Given the description of an element on the screen output the (x, y) to click on. 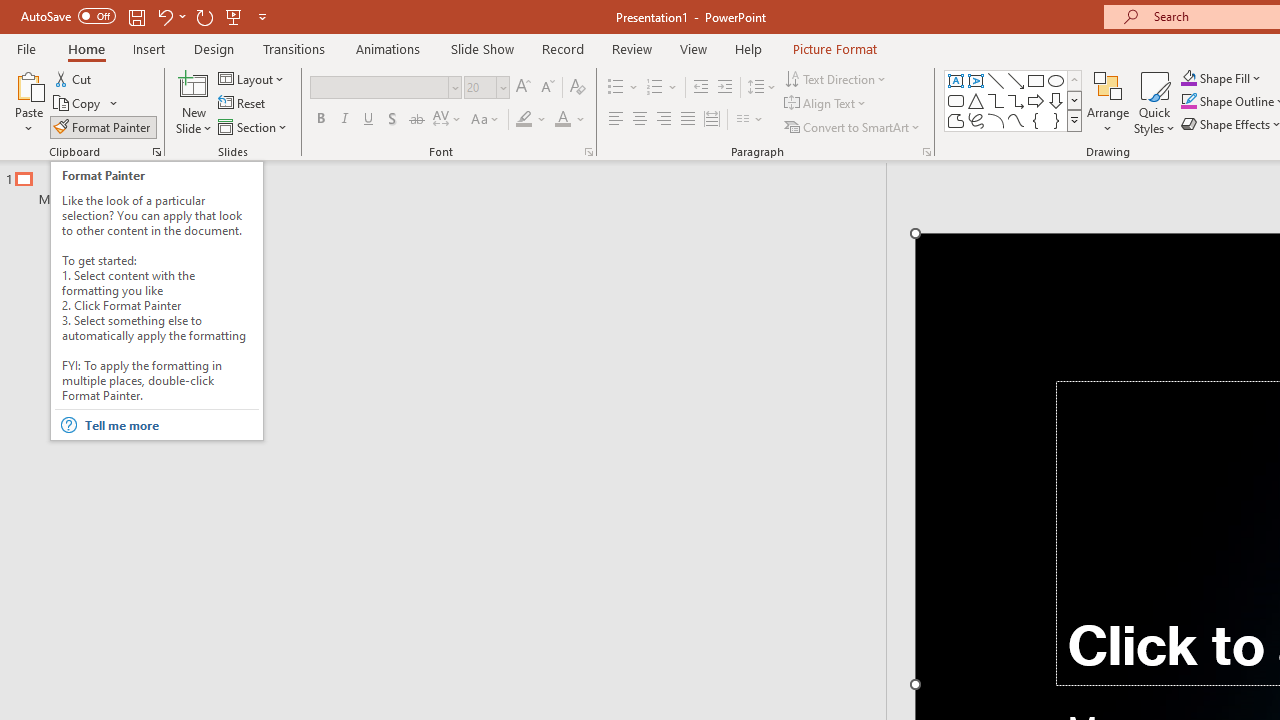
Character Spacing (447, 119)
Underline (369, 119)
Shadow (392, 119)
Line (995, 80)
Arrow: Right (1035, 100)
Isosceles Triangle (975, 100)
Shape Outline Blue, Accent 1 (1188, 101)
Arrange (1108, 102)
Connector: Elbow (995, 100)
Curve (1016, 120)
